Given the description of an element on the screen output the (x, y) to click on. 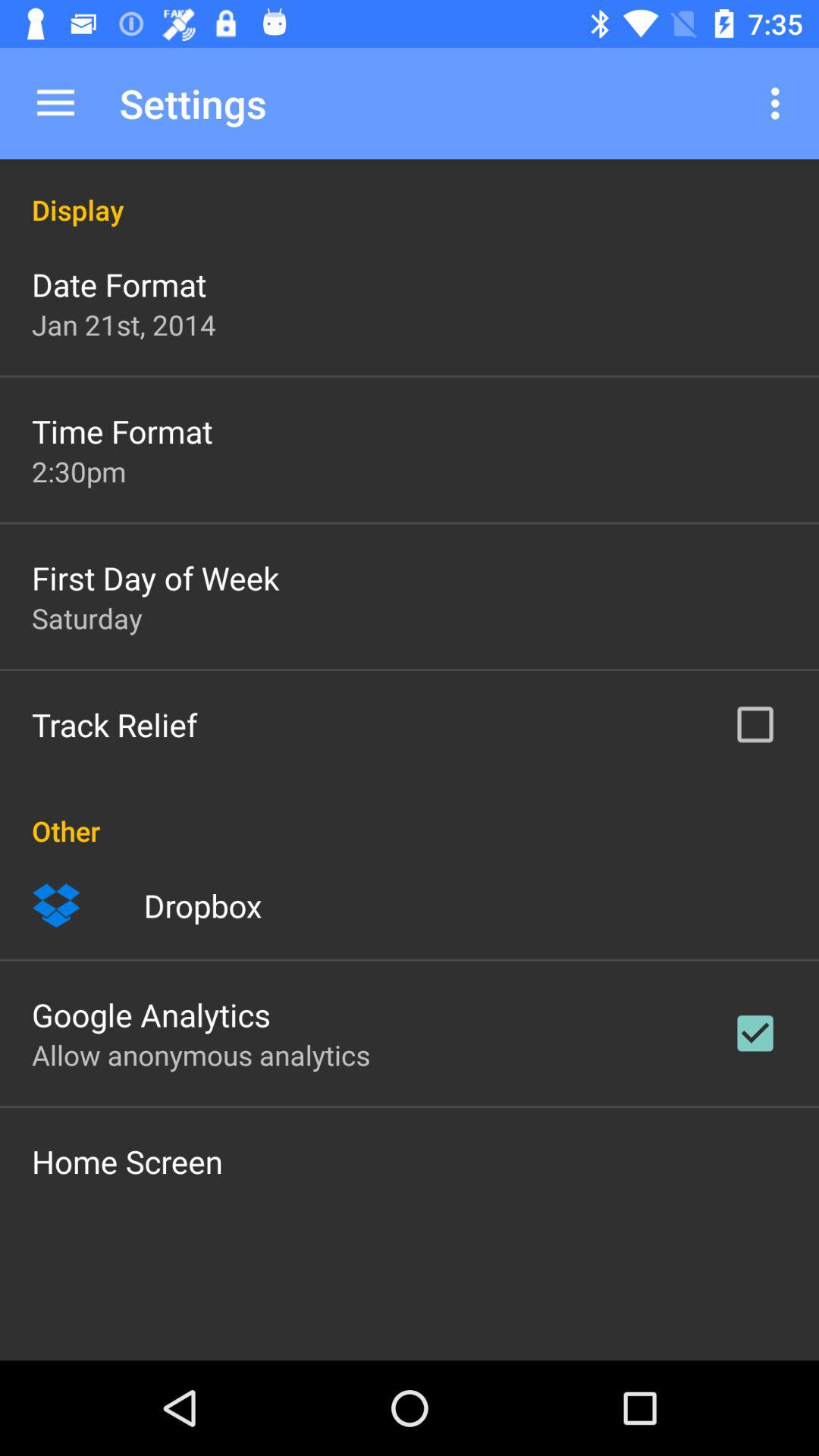
tap app above the track relief icon (86, 618)
